Given the description of an element on the screen output the (x, y) to click on. 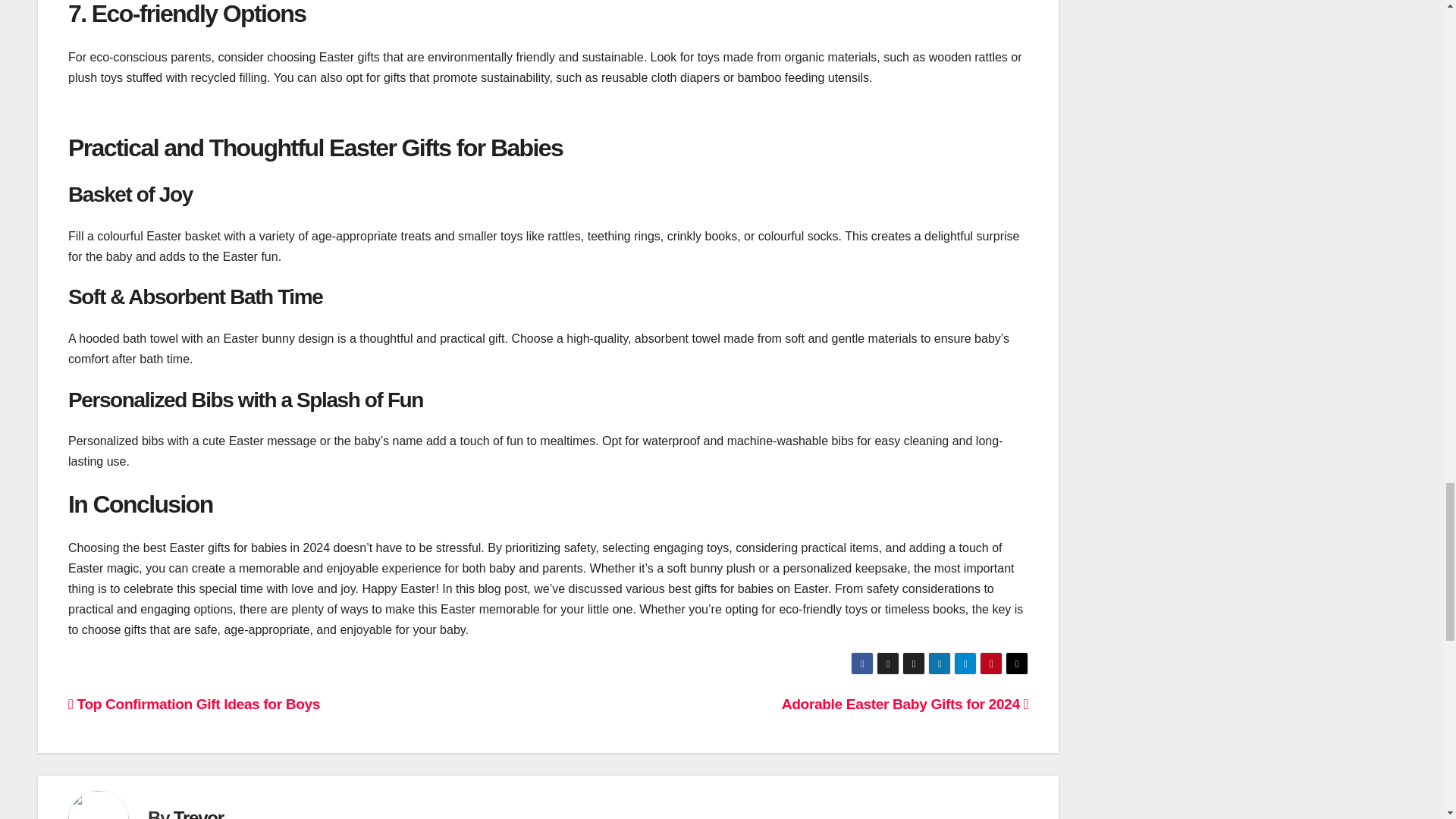
Trevor (198, 813)
Adorable Easter Baby Gifts for 2024 (905, 703)
Top Confirmation Gift Ideas for Boys (194, 703)
